Given the description of an element on the screen output the (x, y) to click on. 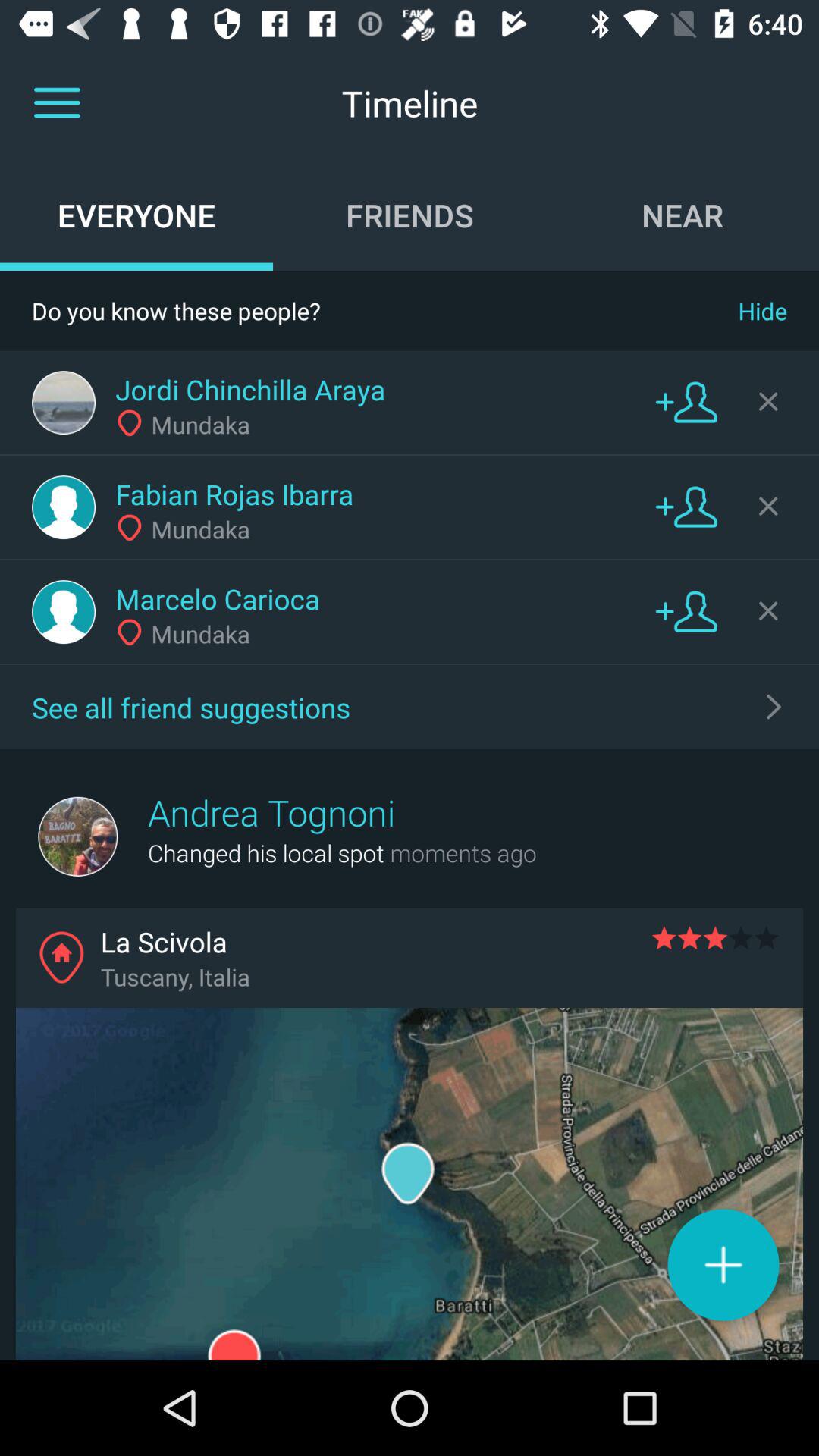
select icon above do you know (682, 214)
